Given the description of an element on the screen output the (x, y) to click on. 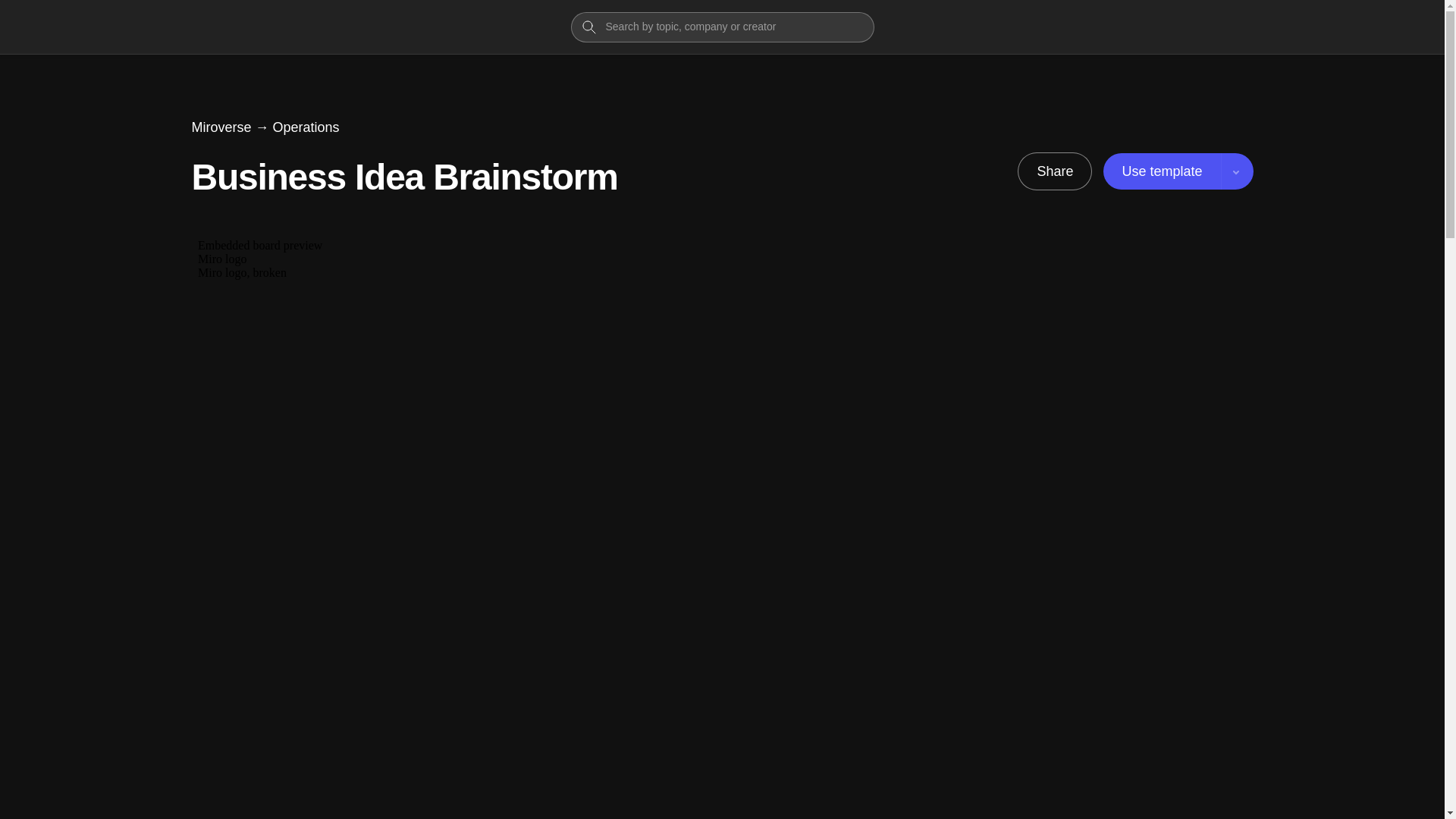
Miroverse (220, 127)
Operations (306, 127)
Share (1053, 171)
Use template (1177, 171)
